Given the description of an element on the screen output the (x, y) to click on. 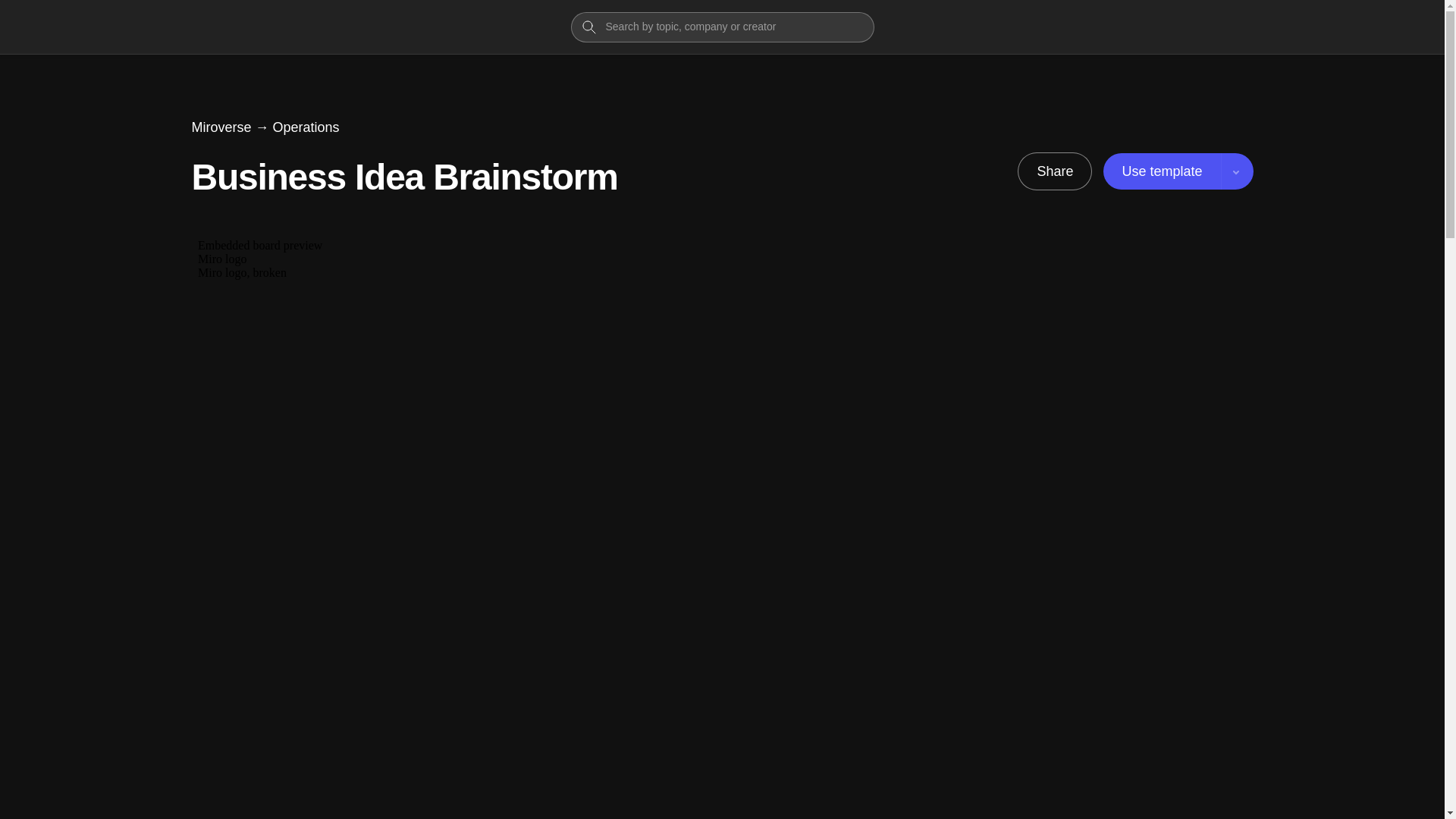
Miroverse (220, 127)
Operations (306, 127)
Share (1053, 171)
Use template (1177, 171)
